Given the description of an element on the screen output the (x, y) to click on. 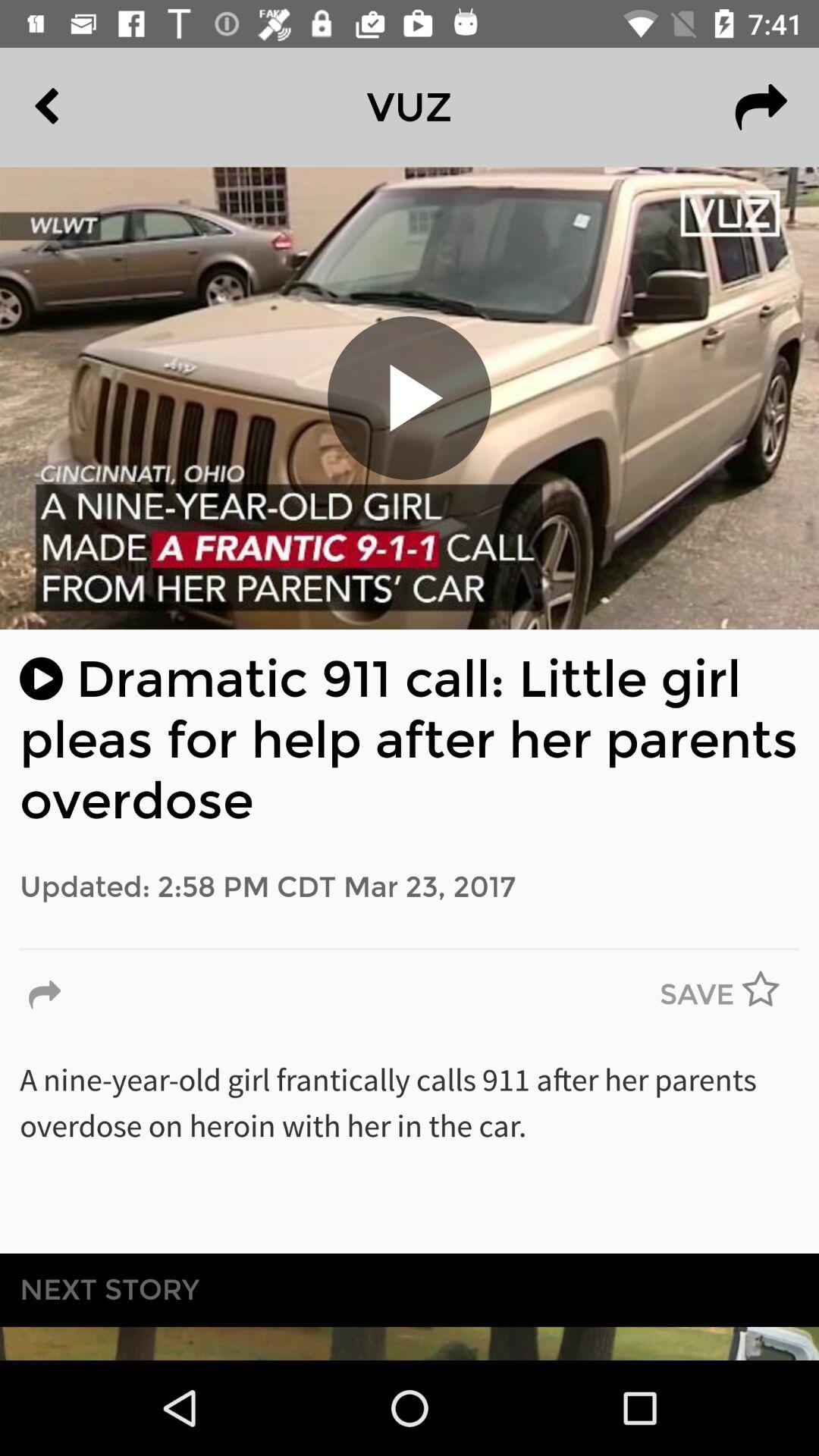
tap the item to the left of vuz icon (81, 107)
